Given the description of an element on the screen output the (x, y) to click on. 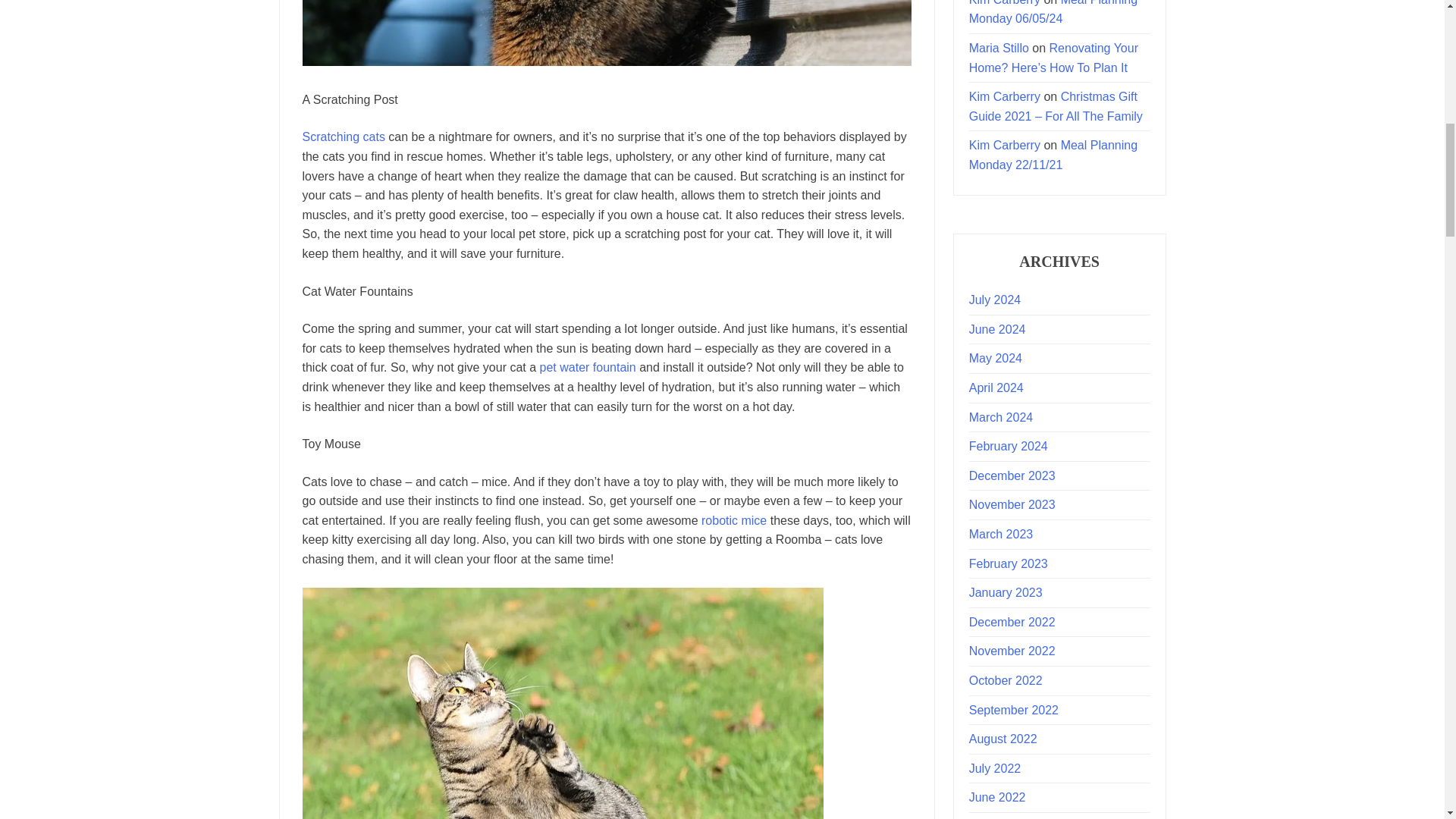
Kim Carberry (1005, 2)
pet water fountain (588, 367)
Maria Stillo (999, 47)
robotic mice (734, 520)
Scratching cats (342, 136)
